Given the description of an element on the screen output the (x, y) to click on. 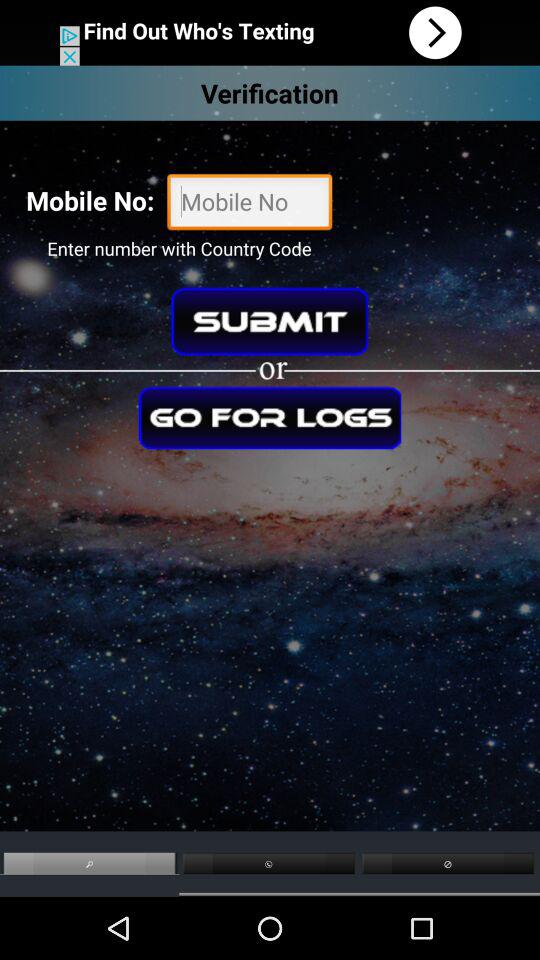
mobile number adding button (249, 204)
